Given the description of an element on the screen output the (x, y) to click on. 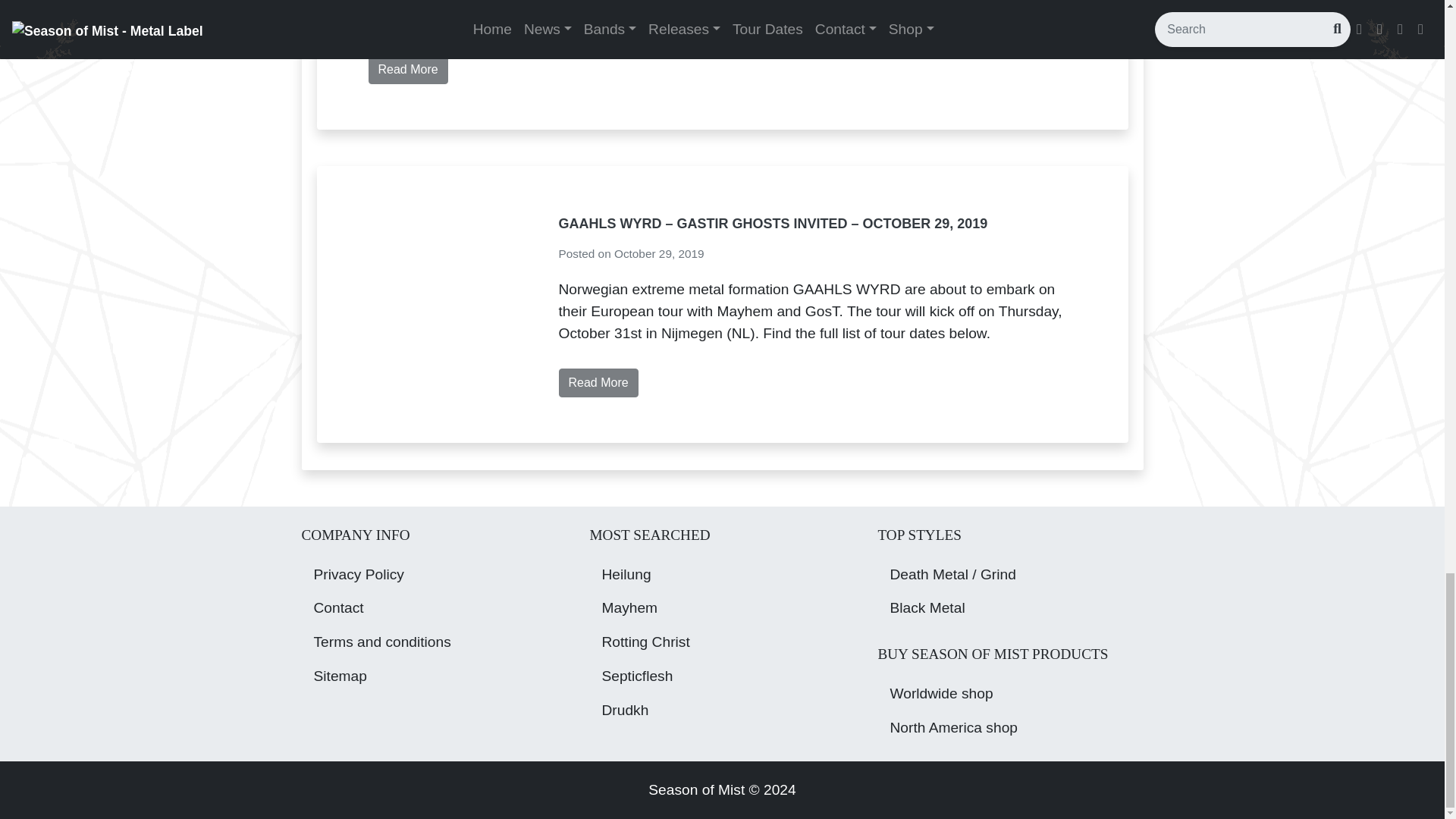
Read More (597, 382)
Privacy Policy (434, 574)
Read More (408, 69)
